Given the description of an element on the screen output the (x, y) to click on. 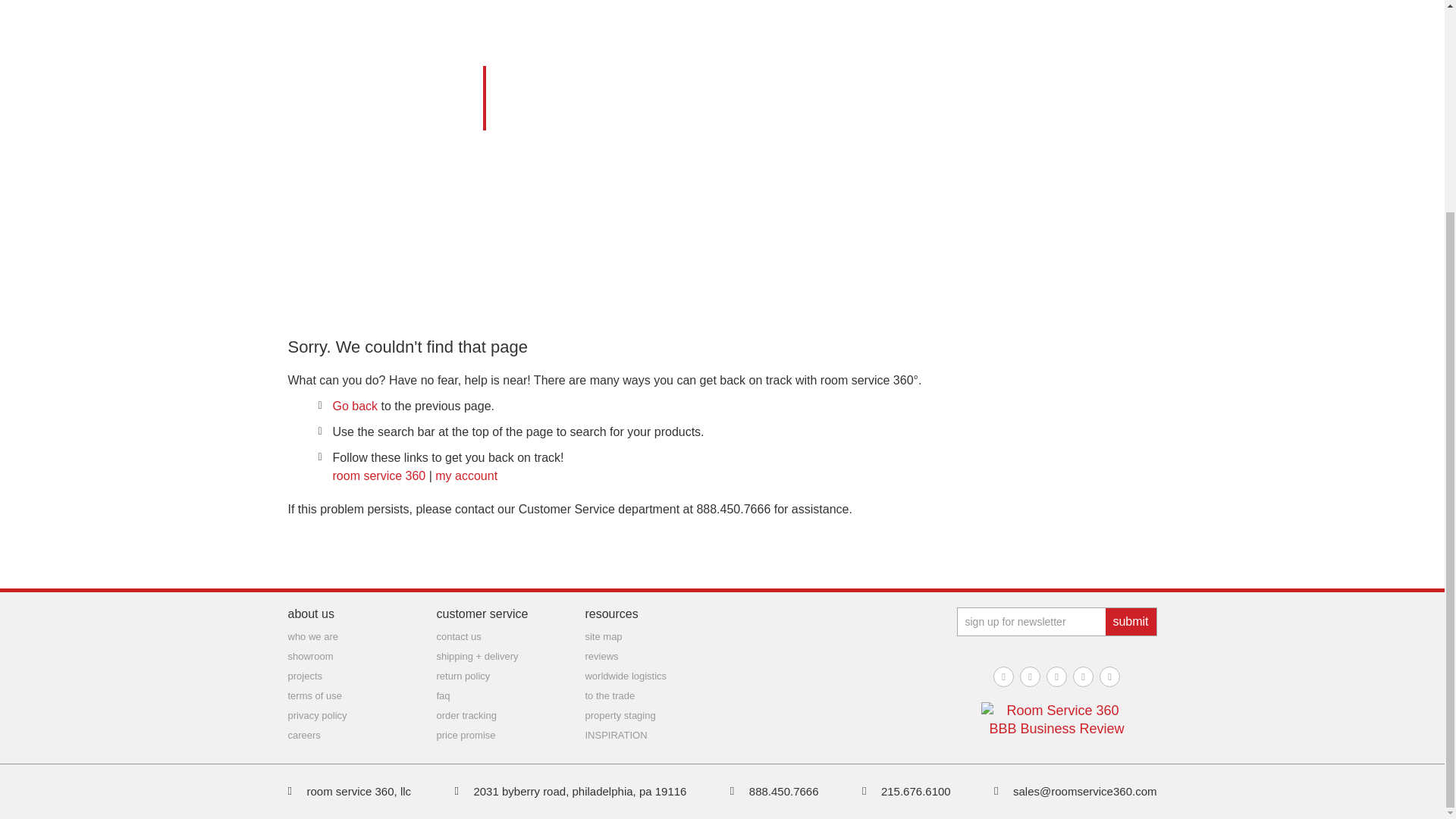
submit (1130, 621)
